Given the description of an element on the screen output the (x, y) to click on. 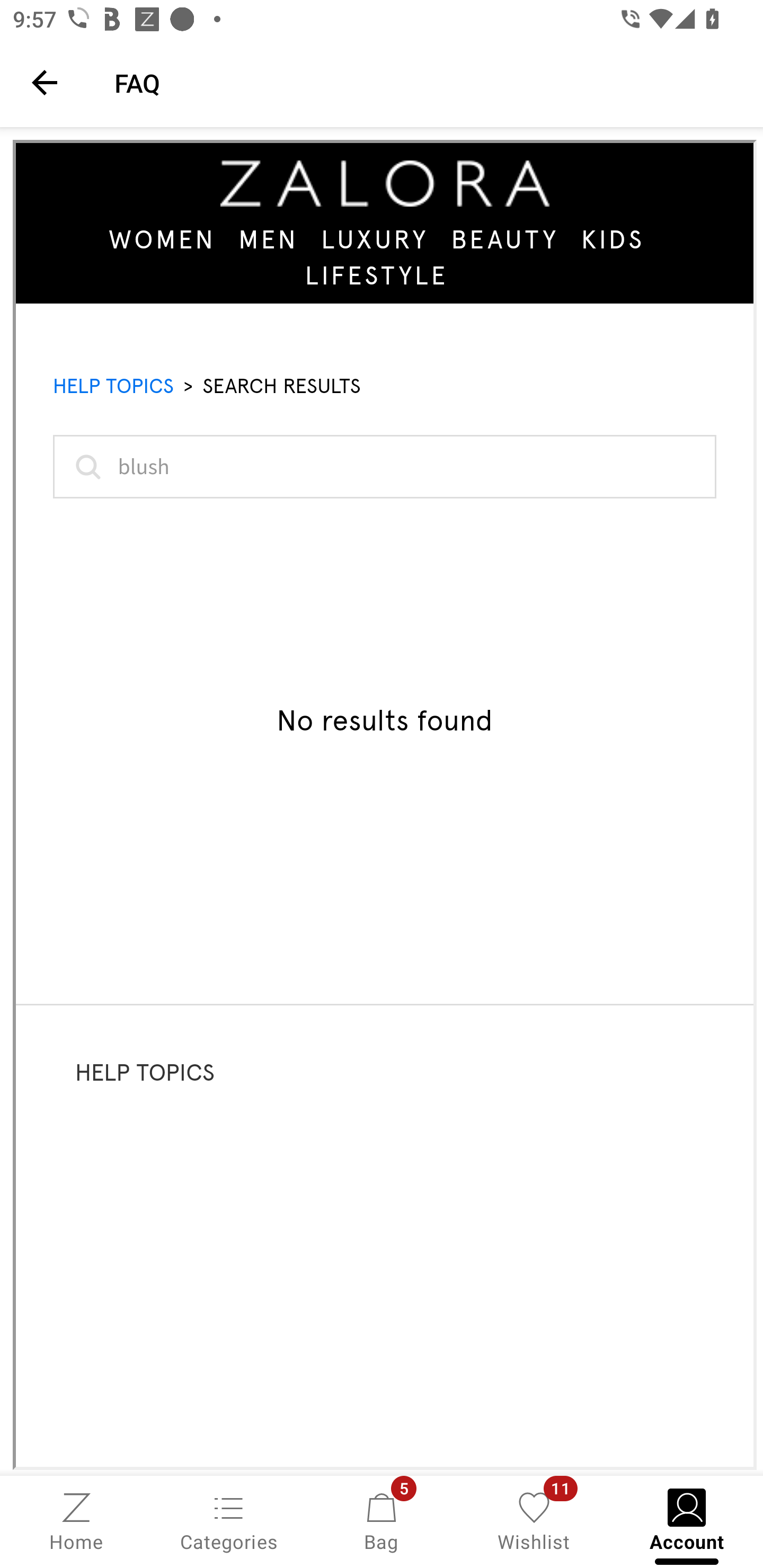
Navigate up (44, 82)
FAQ (426, 82)
logo (384, 182)
WOMEN (162, 239)
MEN (268, 239)
LUXURY (374, 239)
BEAUTY (504, 239)
KIDS (612, 239)
LIFESTYLE (376, 274)
HELP TOPICS (113, 385)
blush (384, 466)
Search (84, 466)
HELP TOPICS (144, 1071)
Home (76, 1519)
Categories (228, 1519)
Bag, 5 new notifications Bag (381, 1519)
Wishlist, 11 new notifications Wishlist (533, 1519)
